Given the description of an element on the screen output the (x, y) to click on. 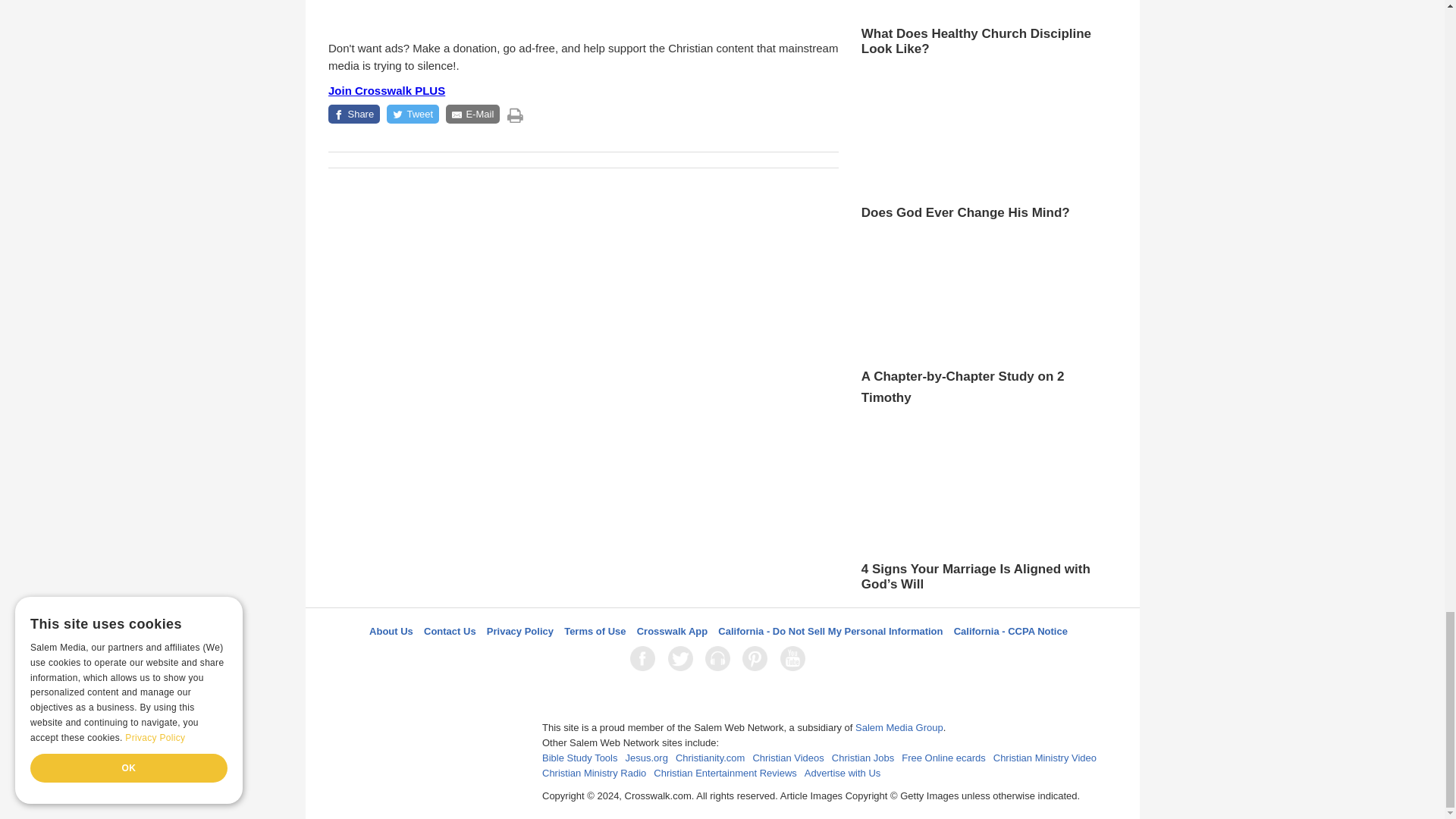
Facebook (645, 658)
Twitter (683, 658)
Pinterest (757, 658)
LifeAudio (719, 658)
